Given the description of an element on the screen output the (x, y) to click on. 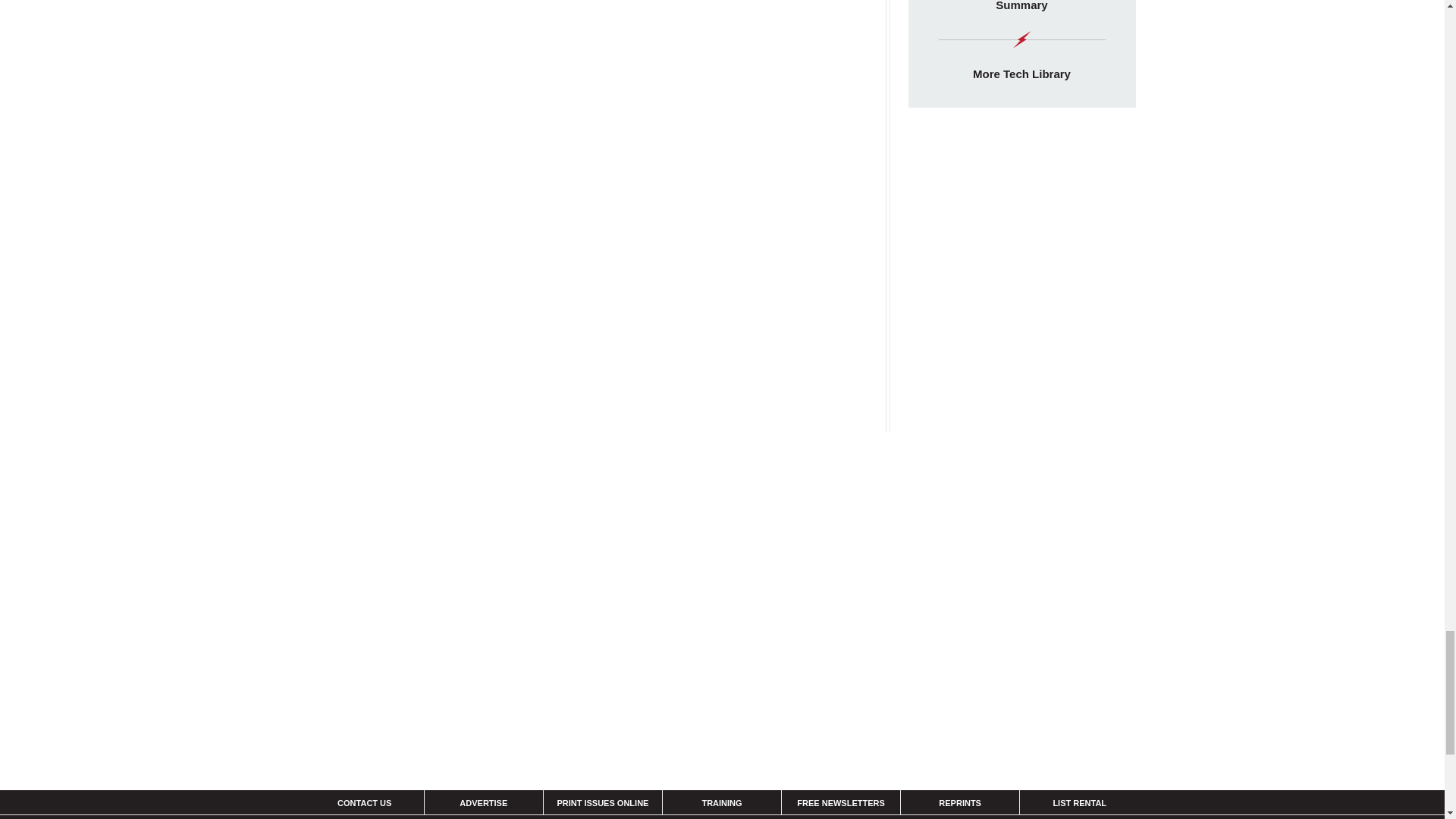
3rd party ad content (1021, 437)
3rd party ad content (1021, 225)
